Given the description of an element on the screen output the (x, y) to click on. 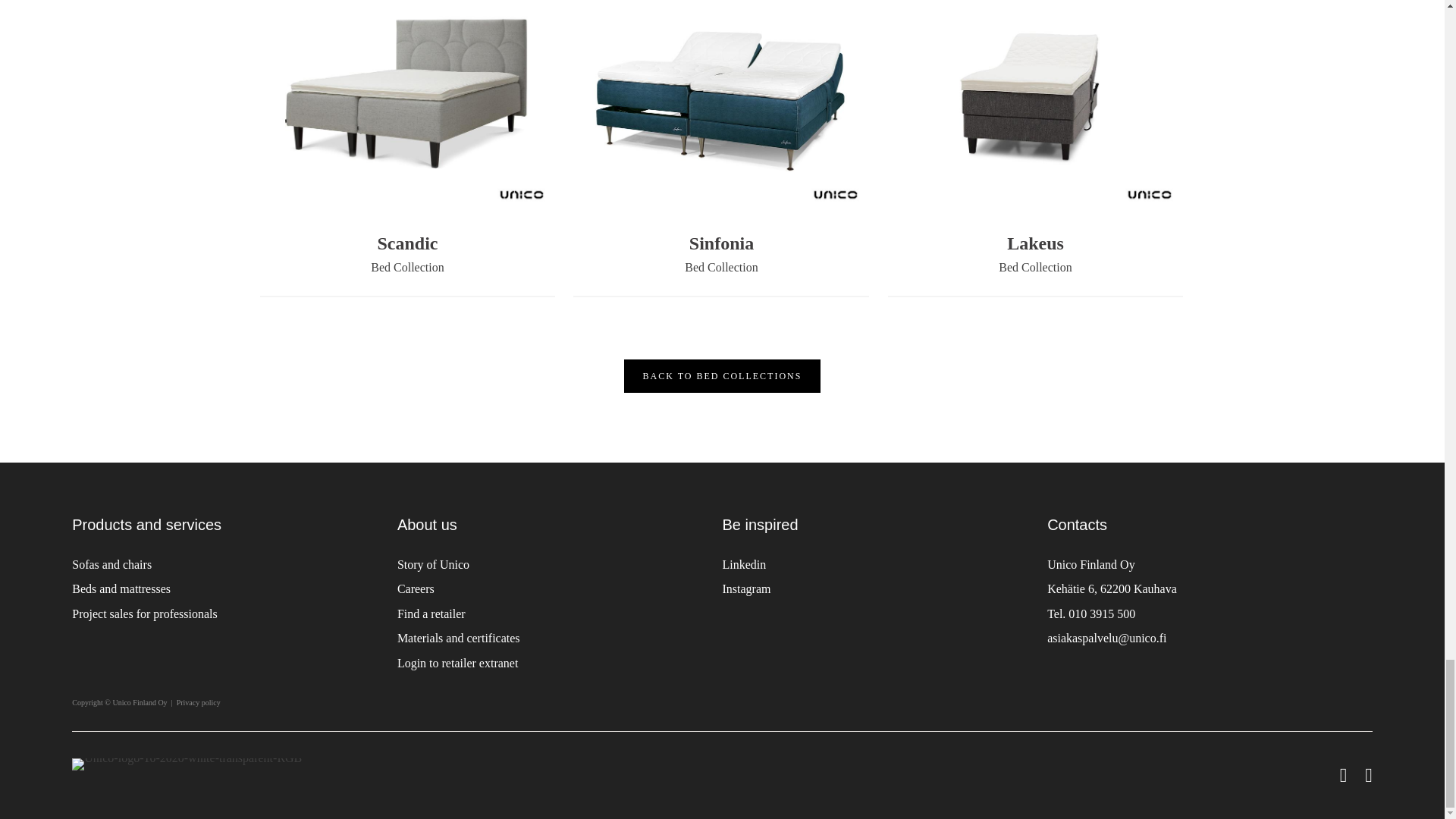
Unico-sinfonia-scuba-768x569 (720, 101)
Story of Unico (432, 563)
Lakeus (1035, 243)
Find a retailer (431, 613)
Project sales for professionals (143, 613)
Scandic (407, 243)
Lakeus (1035, 243)
Beds and mattresses (120, 588)
Sinfonia (721, 243)
Sofas and chairs (111, 563)
Sinfonia (721, 243)
BACK TO BED COLLECTIONS (722, 376)
Scandic (407, 243)
Unico-scandic-RS-23-holvi-768x569 (406, 101)
Careers (415, 588)
